Given the description of an element on the screen output the (x, y) to click on. 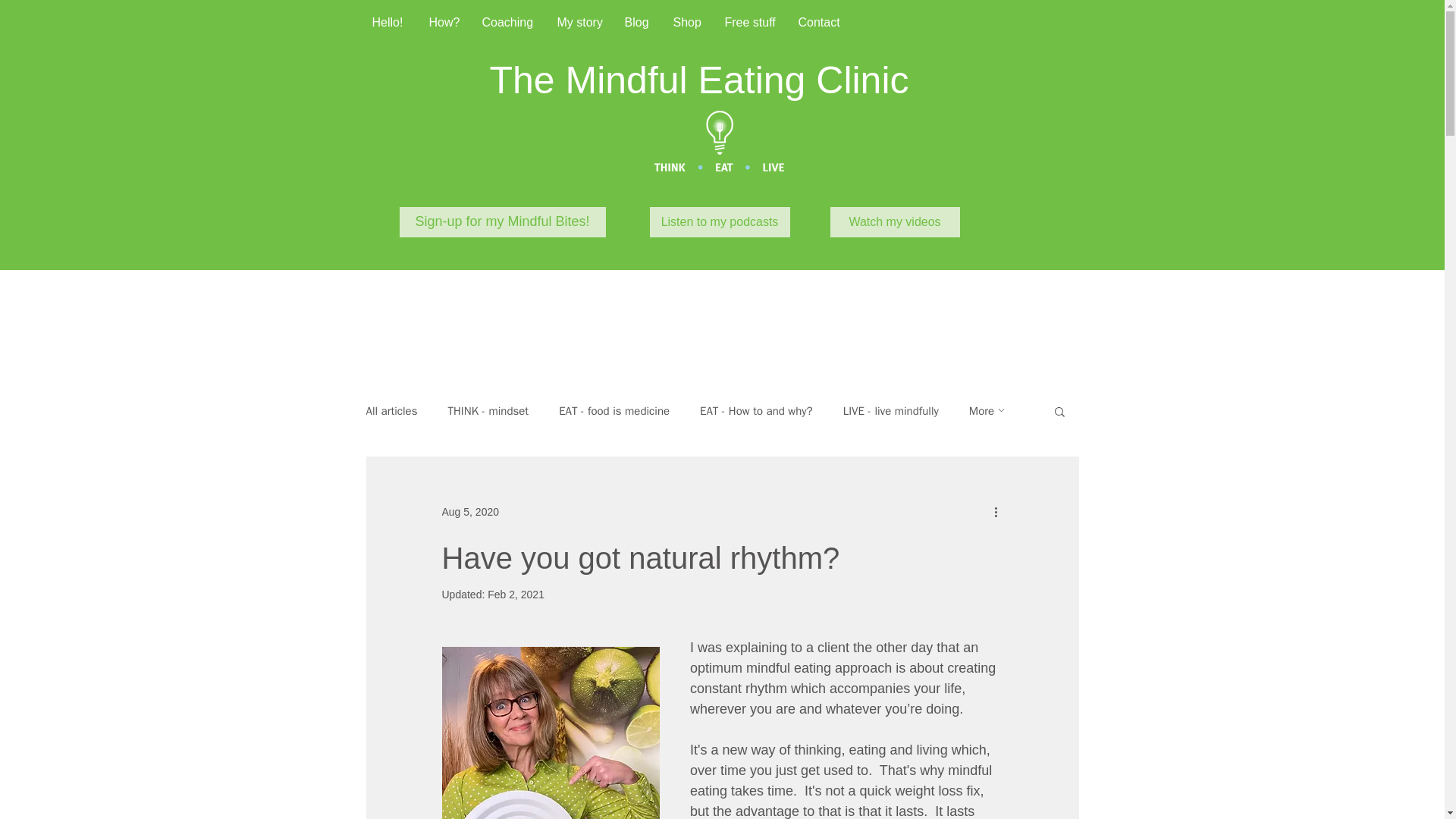
Listen to my podcasts (719, 222)
Feb 2, 2021 (515, 594)
Free stuff (749, 22)
Aug 5, 2020 (470, 510)
Embedded Content (491, 124)
Shop (687, 22)
How? (443, 22)
Hello! (389, 22)
My story (579, 22)
THINK - mindset (487, 410)
Contact (819, 22)
All articles (390, 410)
LIVE - live mindfully (891, 410)
Sign-up for my Mindful Bites! (501, 222)
EAT - food is medicine (614, 410)
